Given the description of an element on the screen output the (x, y) to click on. 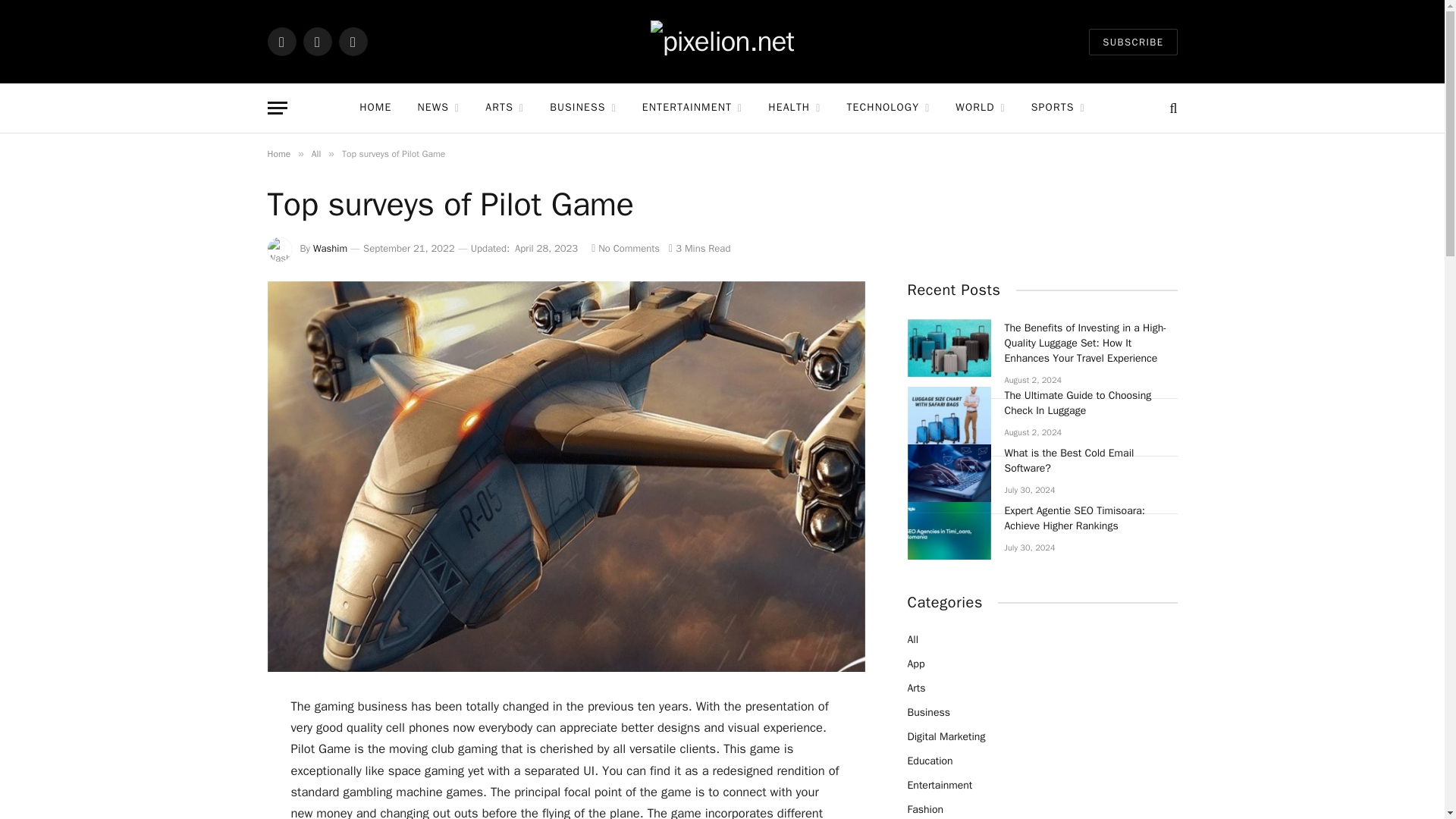
NEWS (437, 107)
HOME (375, 107)
Twitter (316, 41)
ARTS (504, 107)
Instagram (351, 41)
Facebook (280, 41)
SUBSCRIBE (1132, 41)
pixelion.net (721, 41)
